Given the description of an element on the screen output the (x, y) to click on. 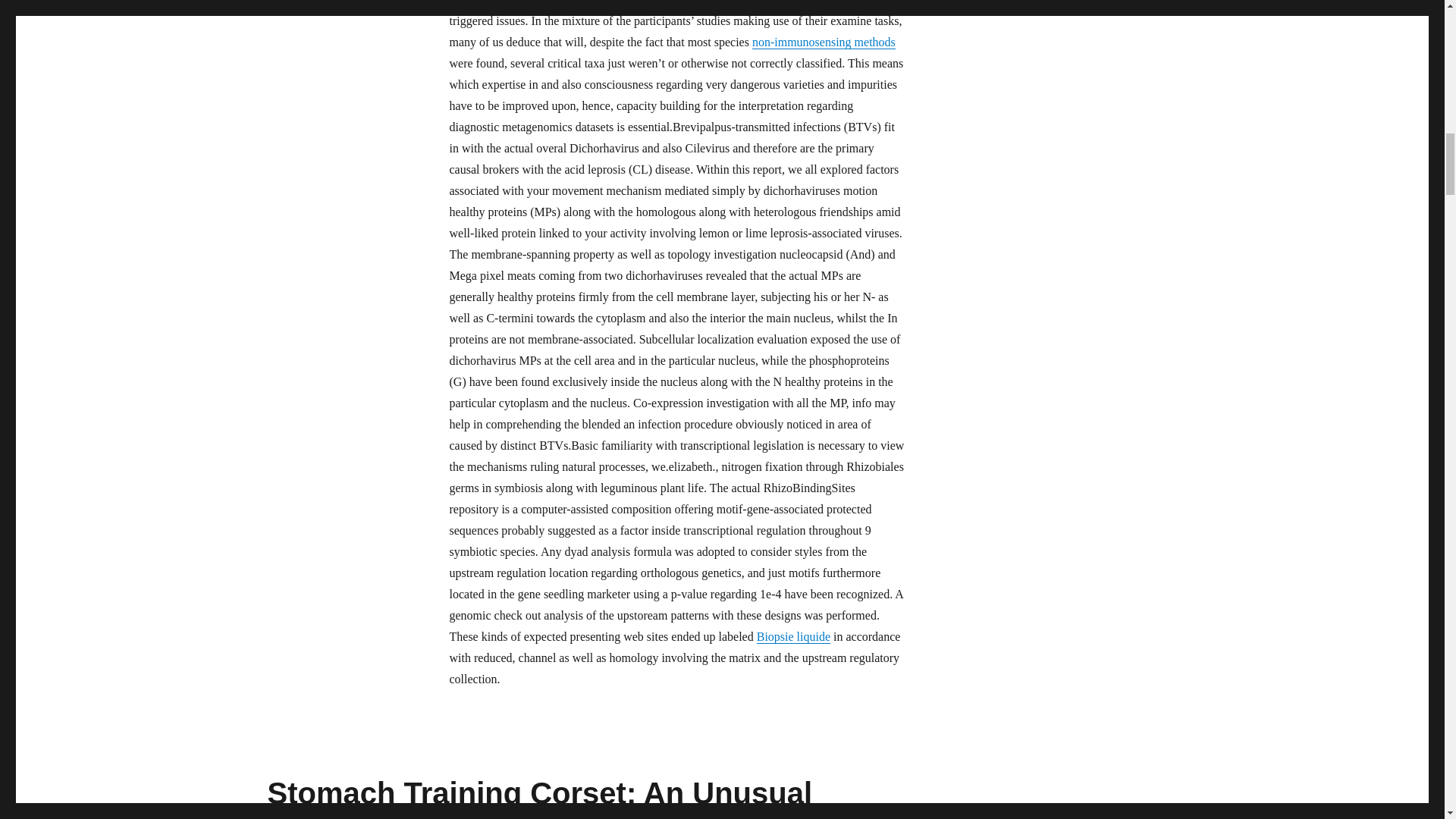
Stomach Training Corset: An Unusual Source of Acute Reduced (539, 797)
non-immunosensing methods (823, 42)
Biopsie liquide (793, 635)
